Given the description of an element on the screen output the (x, y) to click on. 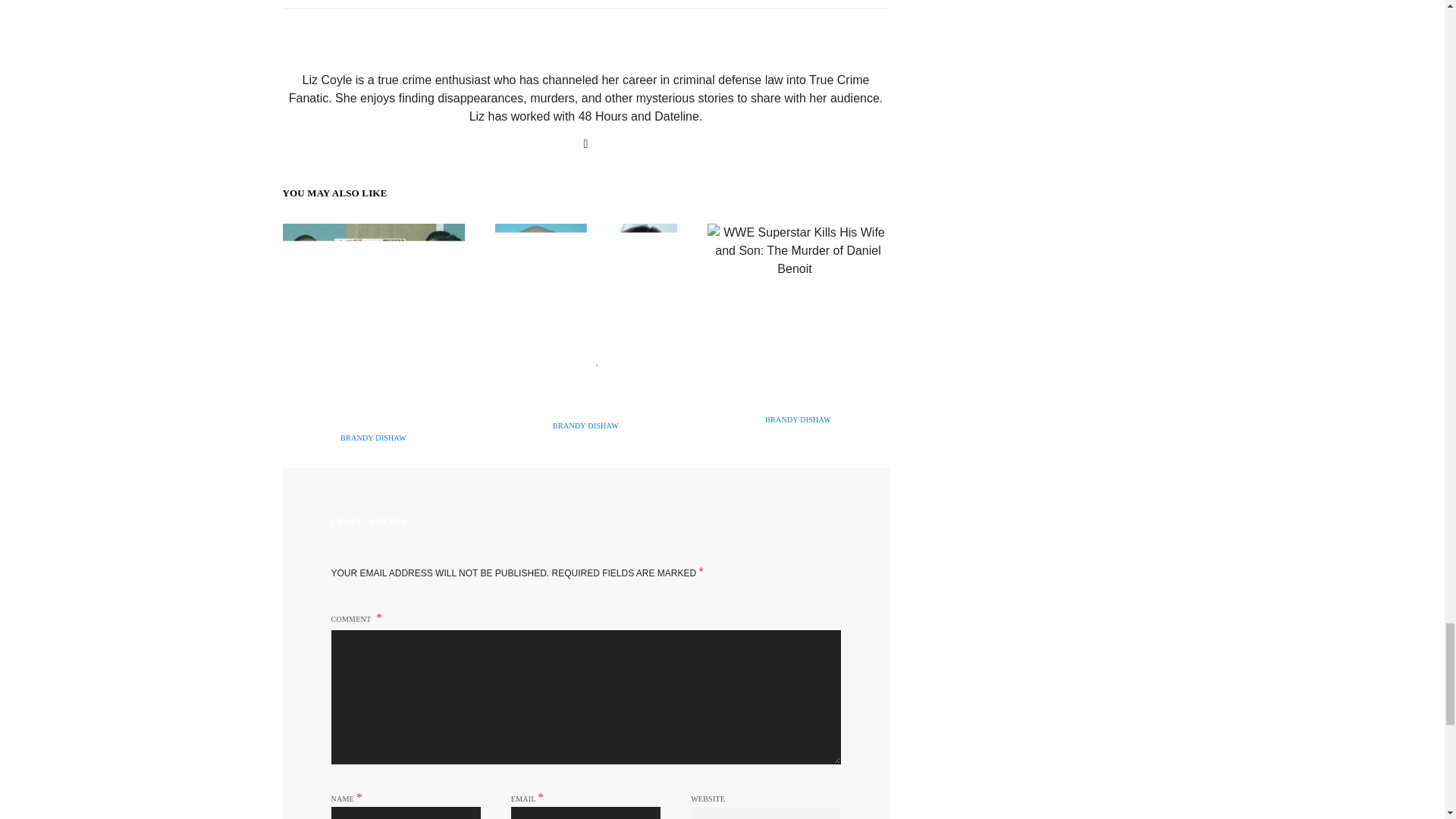
Liz Coyle (585, 51)
View all posts by Brandy Dishaw (798, 419)
View all posts by Brandy Dishaw (585, 425)
View all posts by Brandy Dishaw (373, 438)
